Given the description of an element on the screen output the (x, y) to click on. 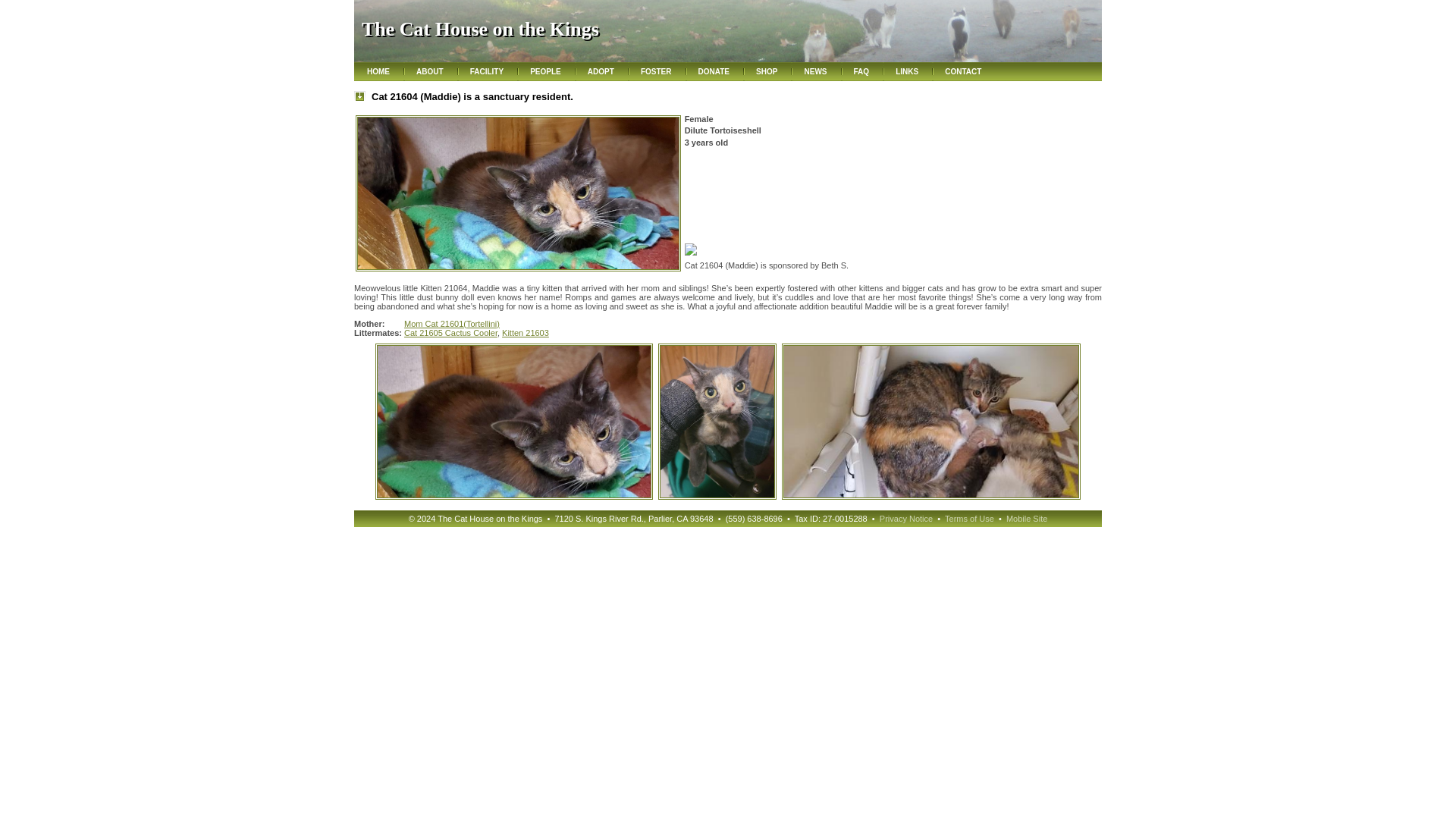
ABOUT (429, 71)
News (815, 71)
Kitten 21603 (525, 332)
Home (378, 71)
Mobile Site (1026, 518)
People (545, 71)
Donate (714, 71)
FOSTER (655, 71)
Contact (962, 71)
NEWS (815, 71)
